Given the description of an element on the screen output the (x, y) to click on. 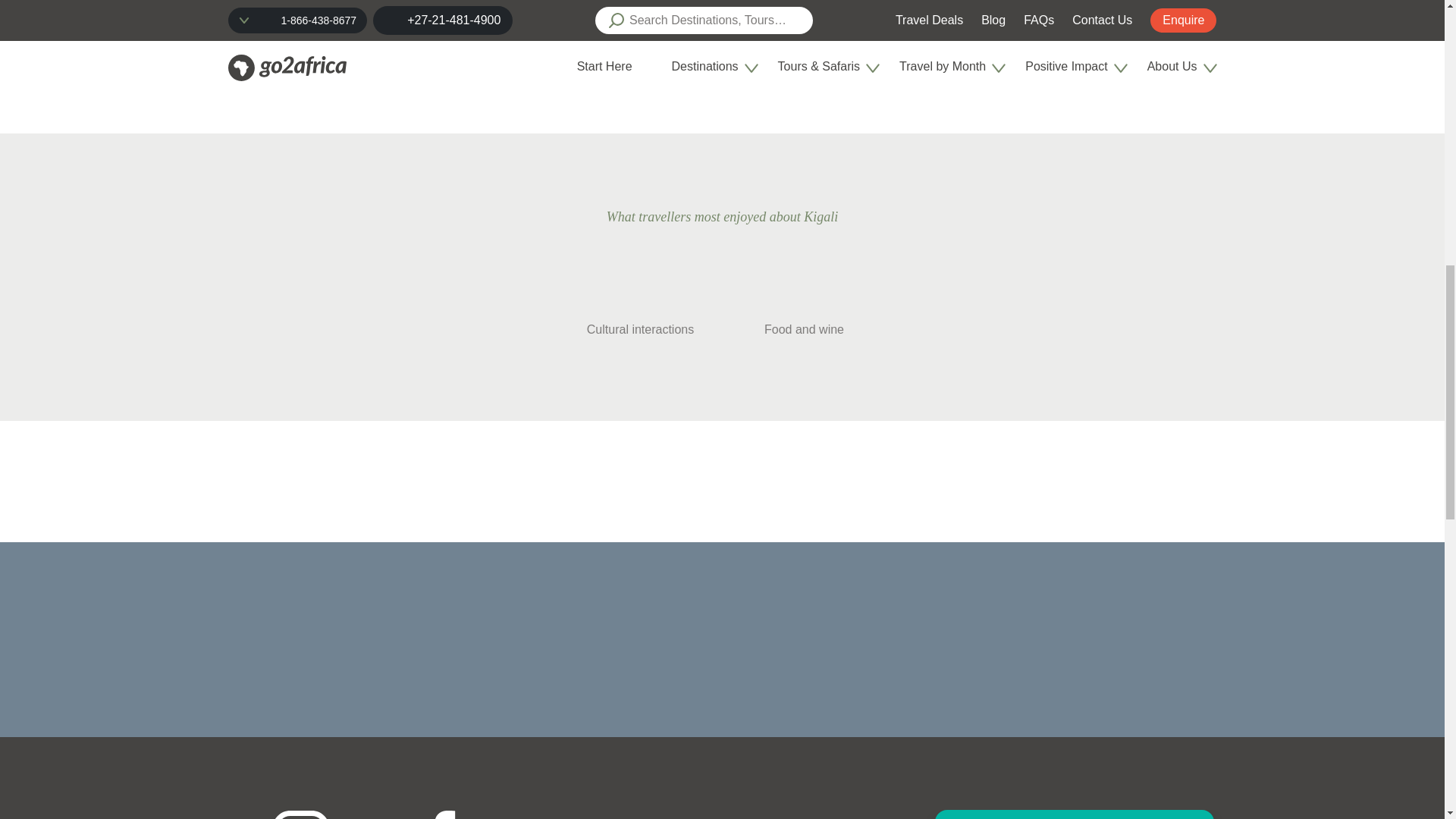
Kigali accommodation (637, 32)
Volcanoes National Park safari (673, 1)
Gorilla trekking (799, 1)
